Given the description of an element on the screen output the (x, y) to click on. 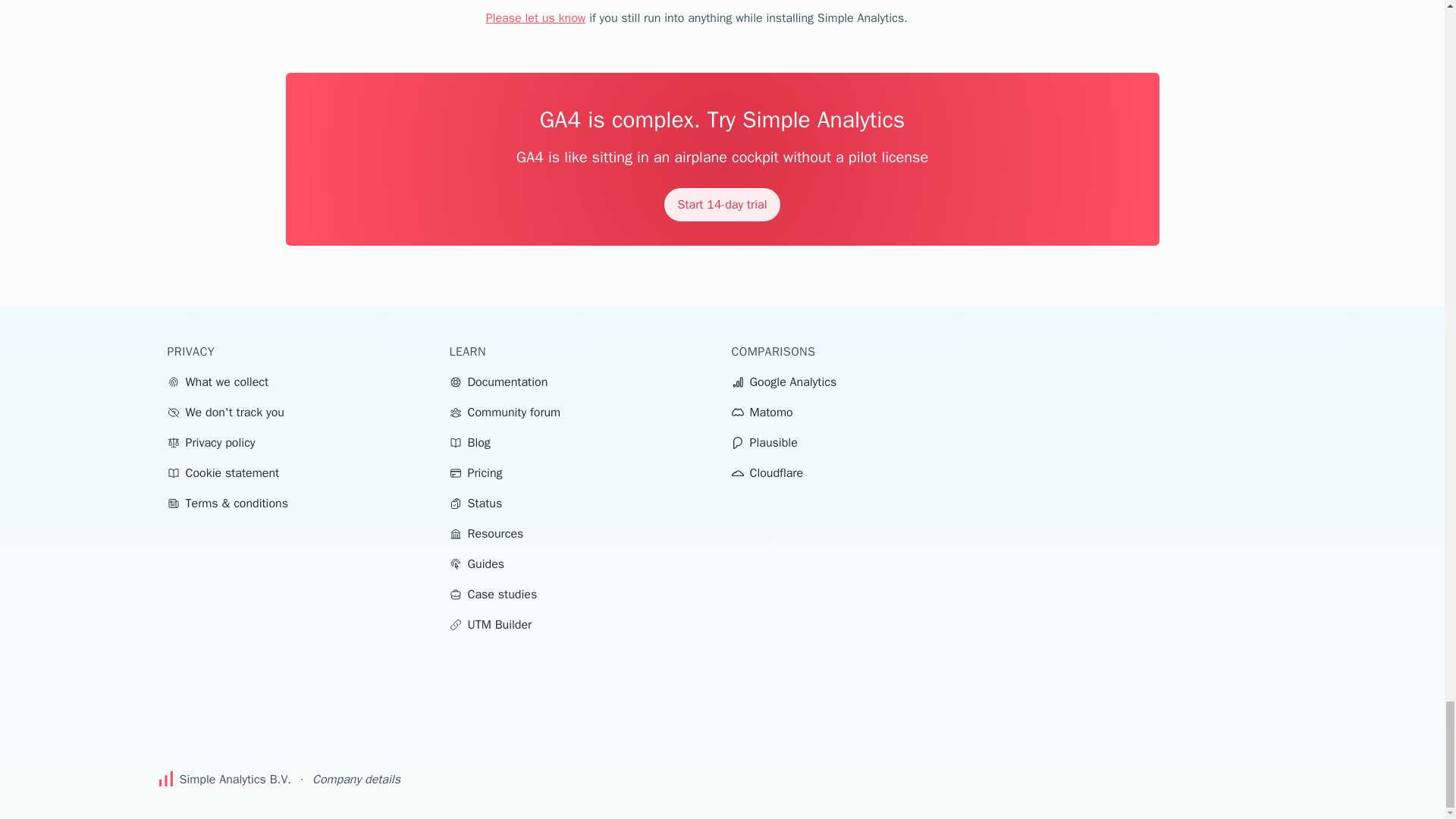
Documentation (497, 381)
Privacy policy (210, 442)
Please let us know (536, 17)
Community forum (504, 412)
Start 14-day trial (721, 204)
Blog (469, 442)
Cookie statement (222, 472)
Pricing (475, 472)
What we collect (217, 381)
We don't track you (224, 412)
